Given the description of an element on the screen output the (x, y) to click on. 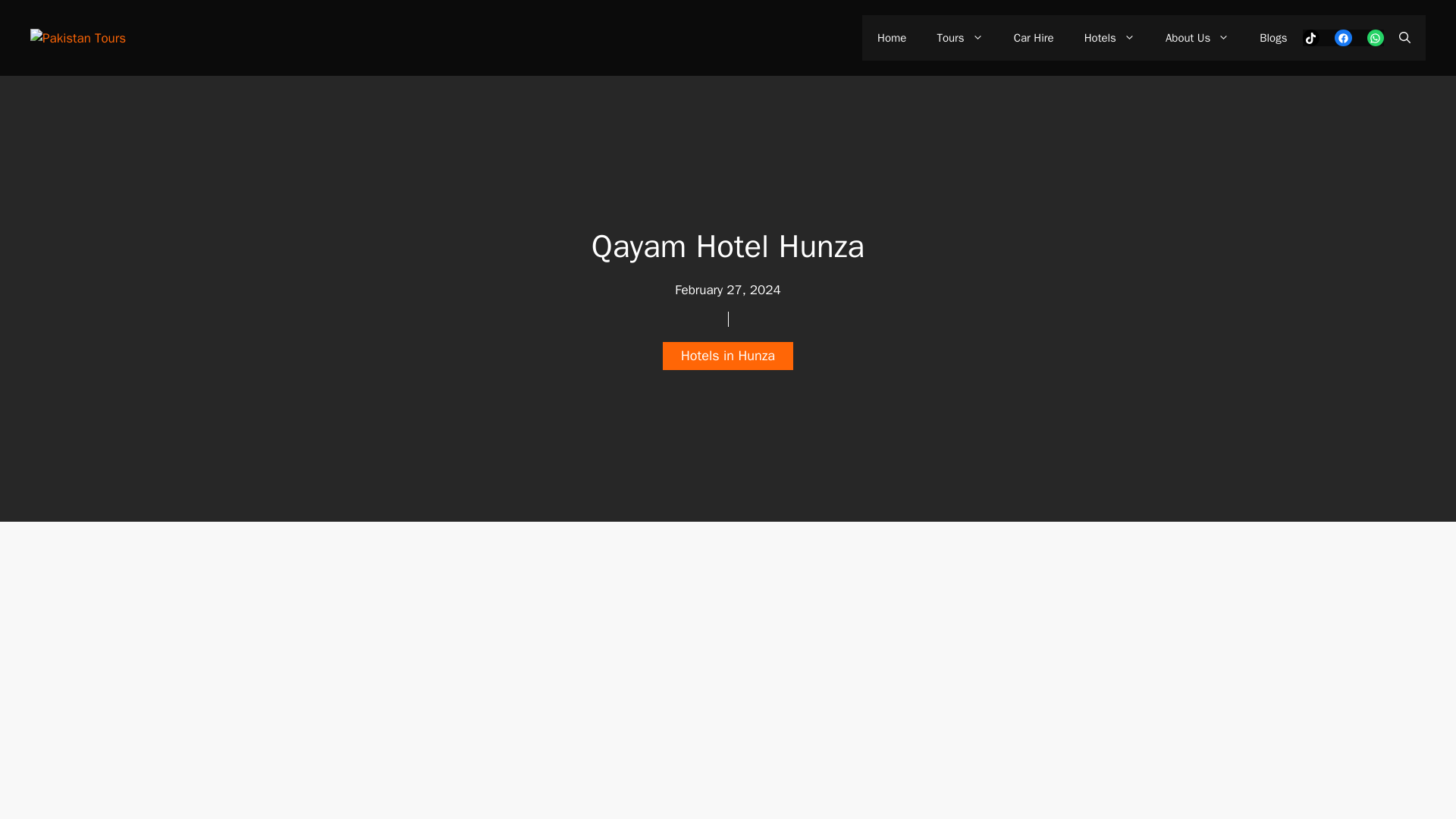
Tours (959, 37)
Car Hire (1033, 37)
TikTok (1311, 37)
WhatsApp (1375, 37)
Facebook (1343, 37)
Blogs (1272, 37)
Home (891, 37)
About Us (1197, 37)
Hotels (1109, 37)
